Given the description of an element on the screen output the (x, y) to click on. 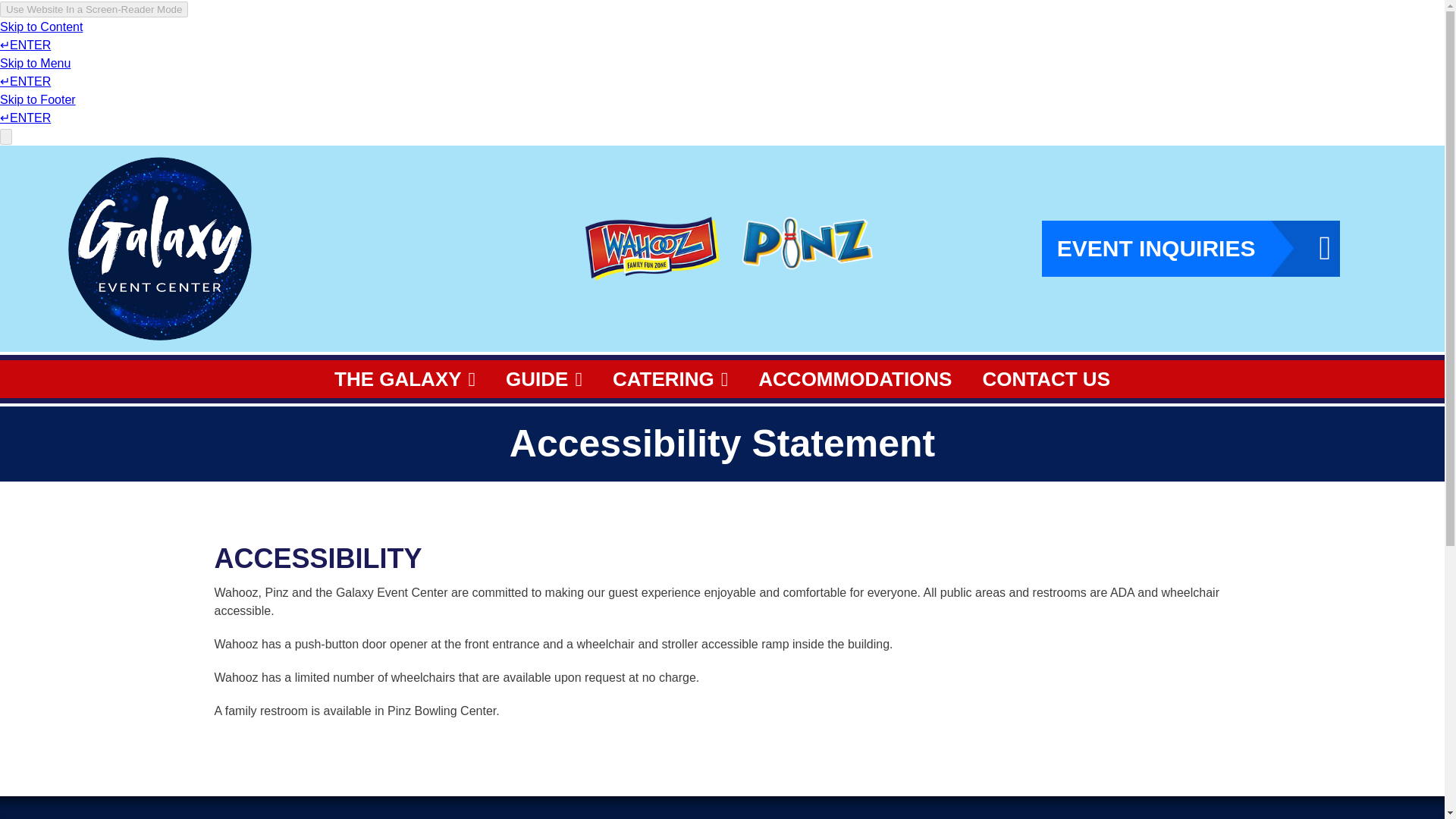
EVENT INQUIRIES (1191, 248)
CATERING (669, 379)
GUIDE (543, 379)
ACCOMMODATIONS (854, 379)
CONTACT US (1045, 379)
THE GALAXY (404, 379)
